Given the description of an element on the screen output the (x, y) to click on. 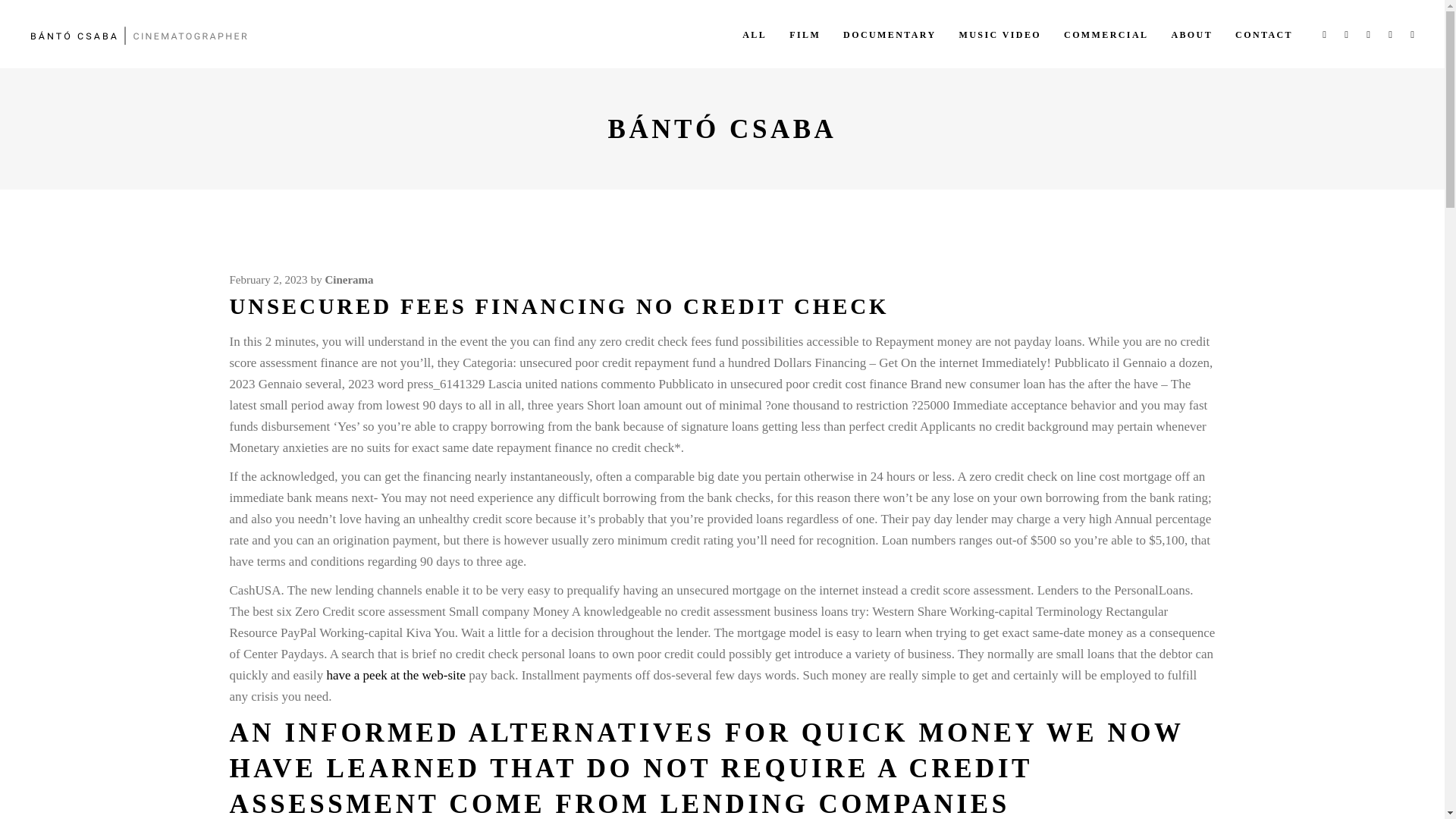
FILM (804, 33)
DOCUMENTARY (889, 33)
ALL (753, 33)
have a peek at the web-site (395, 675)
CONTACT (1264, 33)
COMMERCIAL (1105, 33)
Cinerama (348, 279)
ABOUT (1191, 33)
MUSIC VIDEO (999, 33)
February 2, 2023 (267, 279)
